Given the description of an element on the screen output the (x, y) to click on. 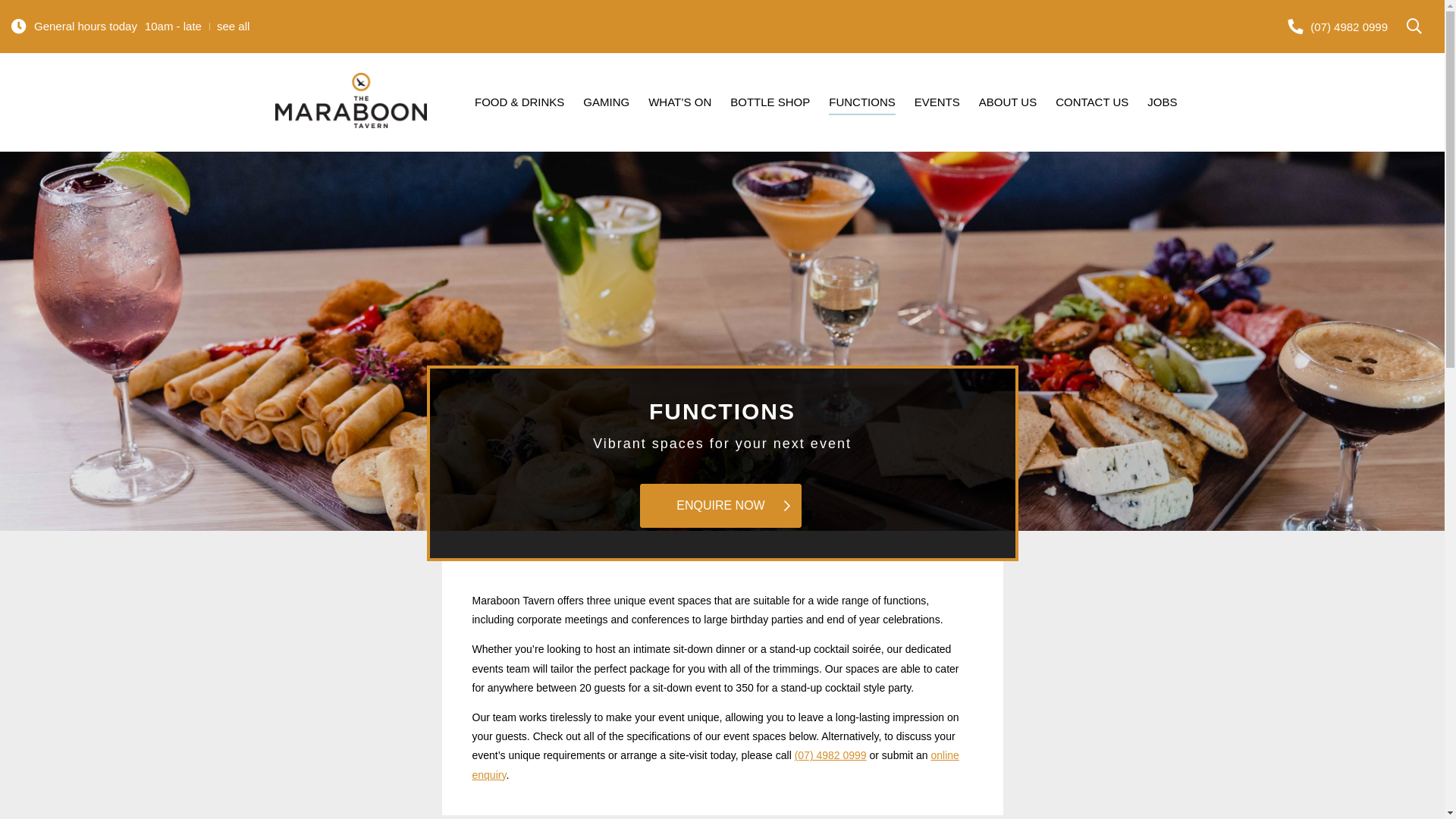
CONTACT US Element type: text (1091, 105)
see all Element type: text (232, 25)
online enquiry Element type: text (714, 764)
ABOUT US Element type: text (1007, 105)
JOBS Element type: text (1161, 105)
FOOD & DRINKS Element type: text (519, 105)
(07) 4982 0999 Element type: text (830, 755)
ENQUIRE NOW Element type: text (720, 505)
(07) 4982 0999 Element type: text (1337, 26)
FUNCTIONS Element type: text (861, 105)
EVENTS Element type: text (937, 105)
GAMING Element type: text (606, 105)
BOTTLE SHOP Element type: text (769, 105)
